Given the description of an element on the screen output the (x, y) to click on. 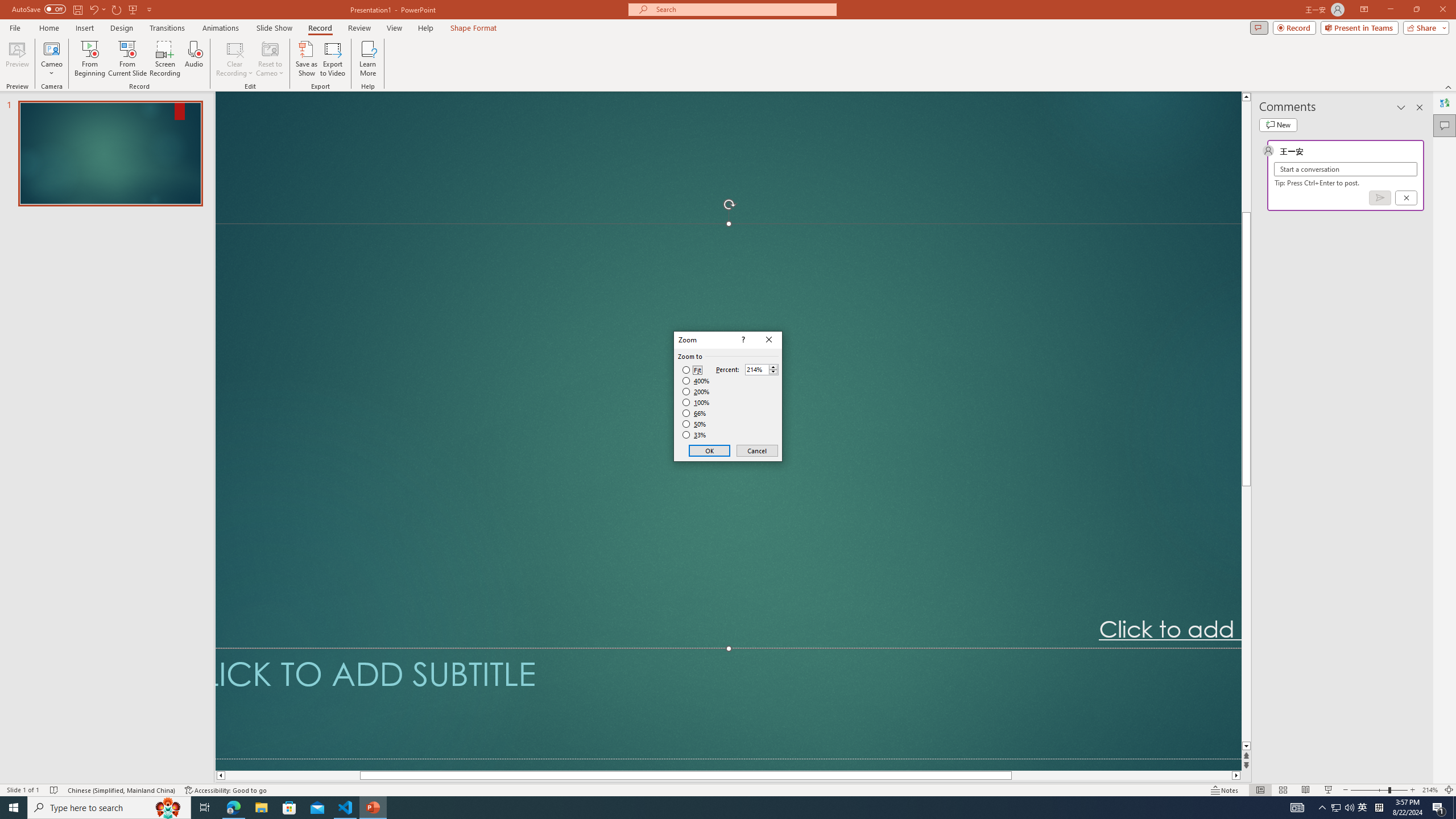
Subtitle TextBox (728, 703)
Reset to Cameo (269, 58)
